Given the description of an element on the screen output the (x, y) to click on. 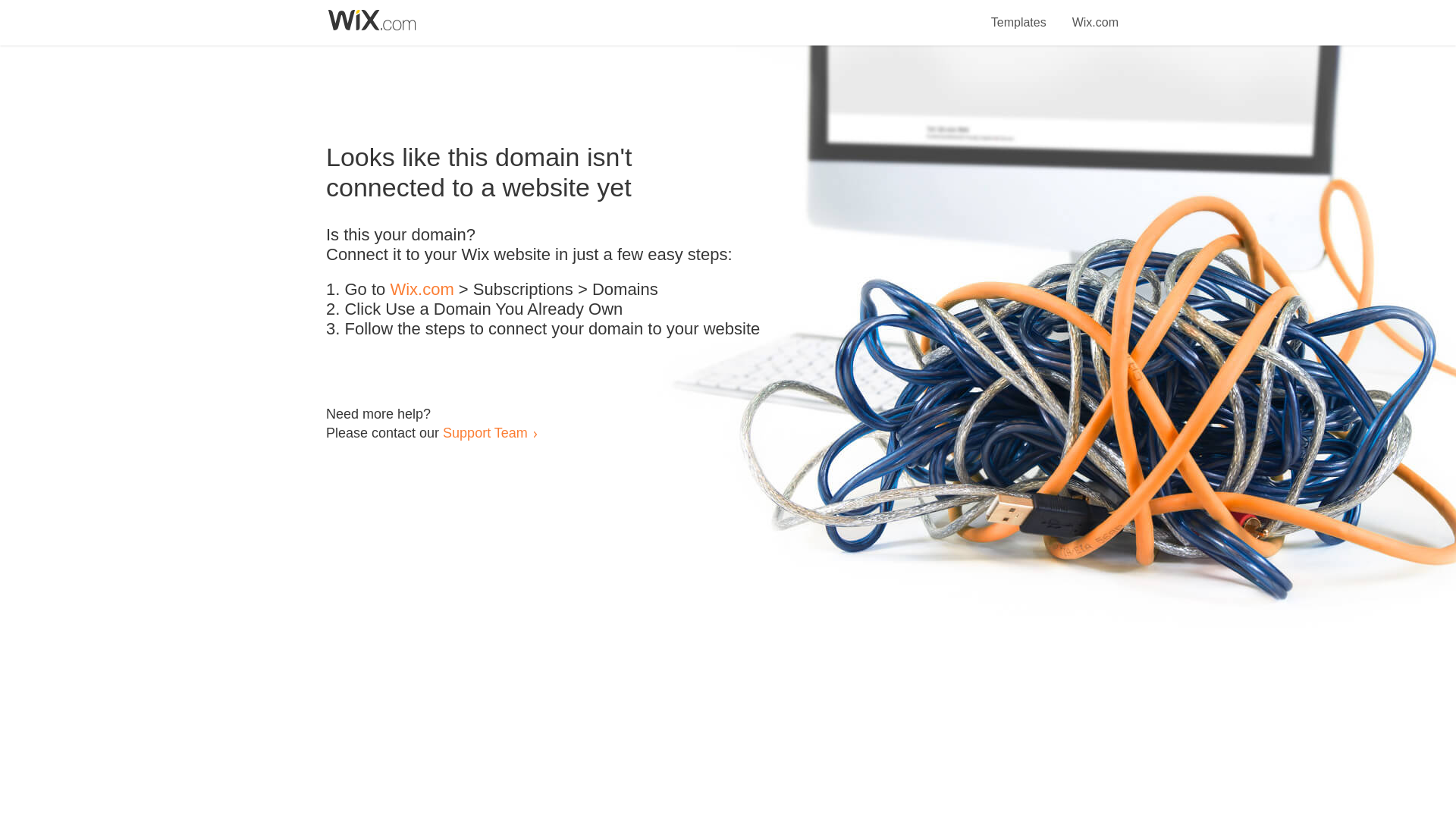
Templates (1018, 14)
Wix.com (1095, 14)
Wix.com (421, 289)
Support Team (484, 432)
